Given the description of an element on the screen output the (x, y) to click on. 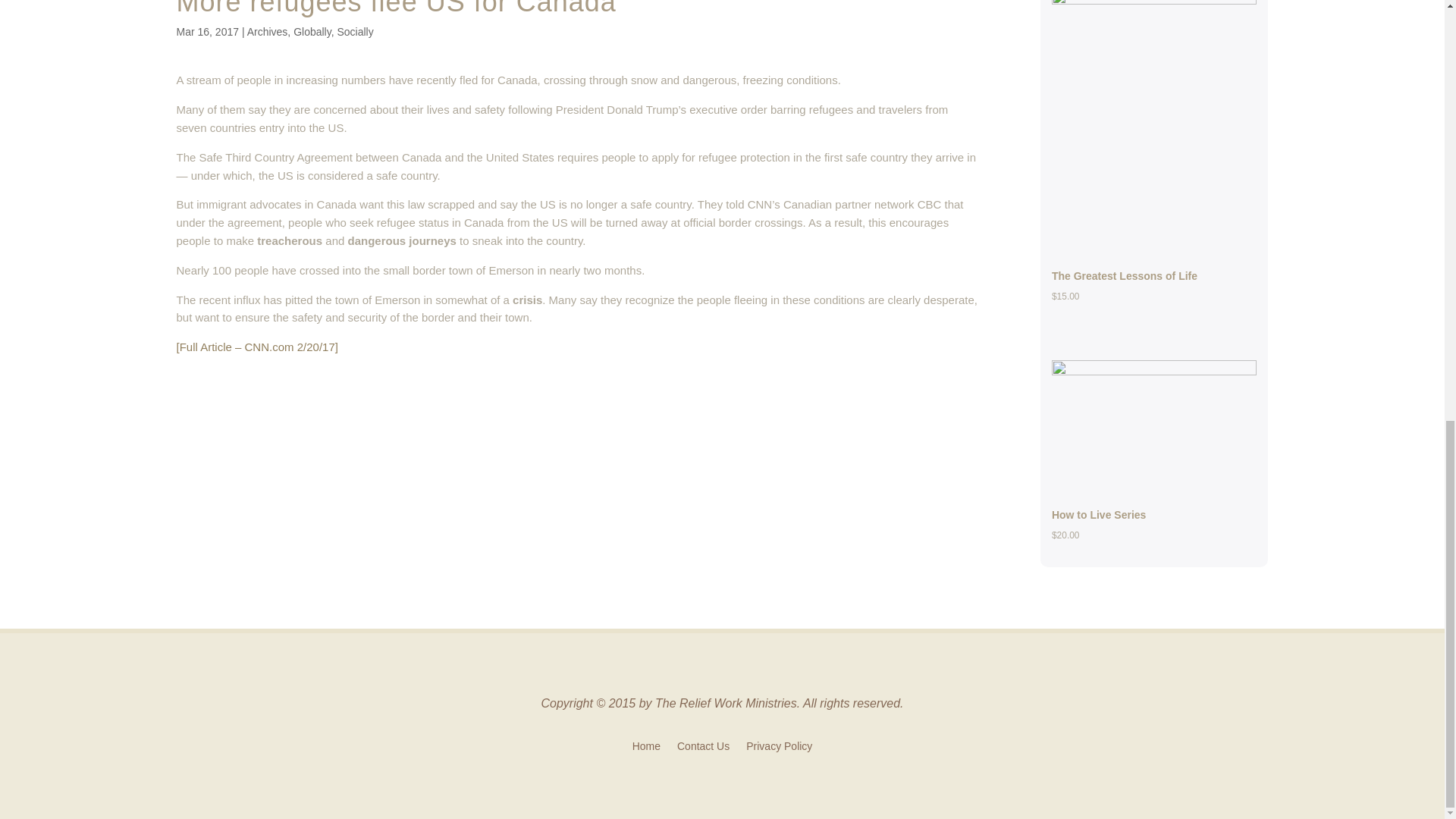
Archives (267, 31)
Socially (354, 31)
Globally (312, 31)
